Given the description of an element on the screen output the (x, y) to click on. 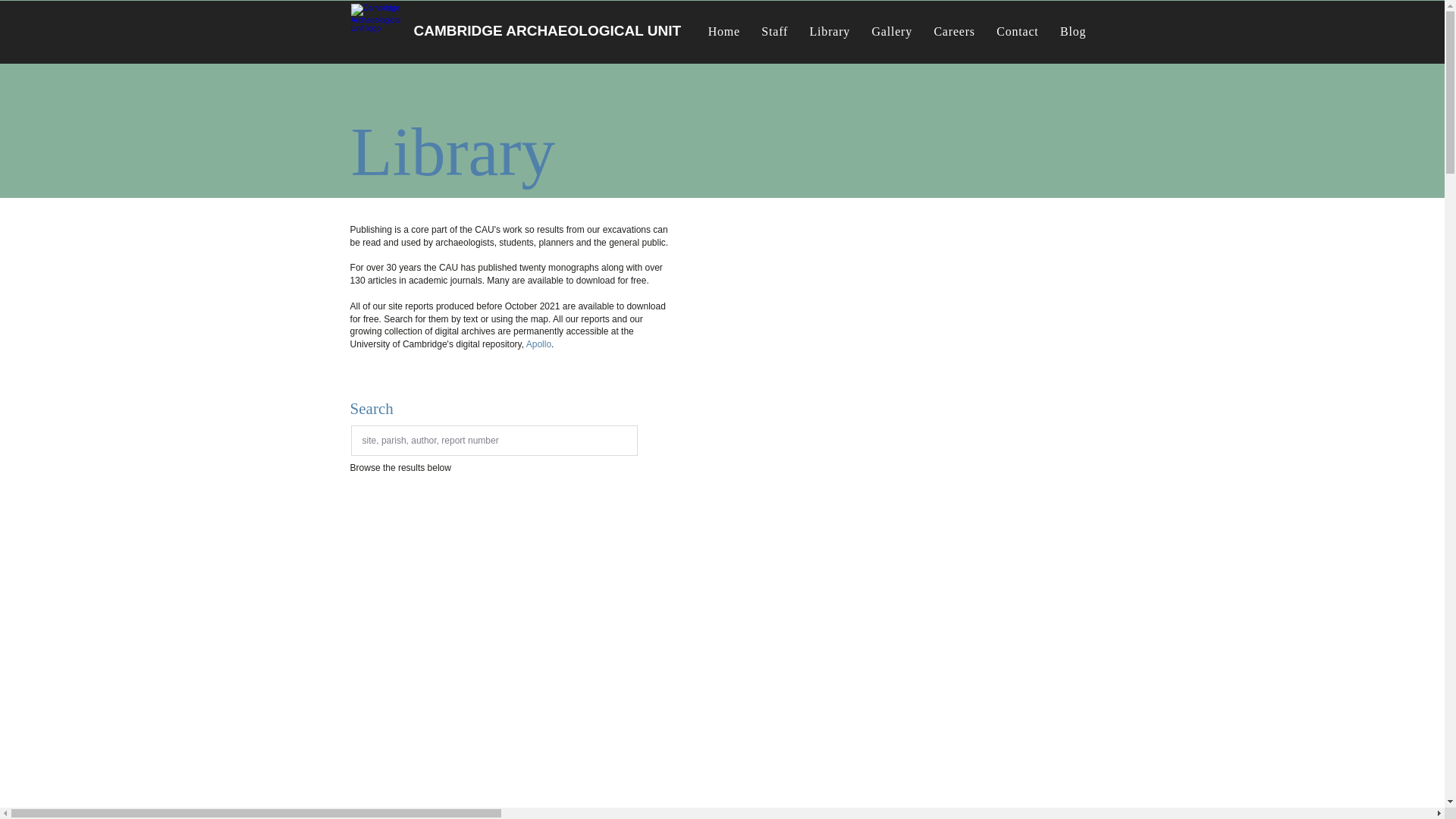
monographs (573, 267)
Gallery (891, 31)
Contact (1017, 31)
articles (383, 280)
Library (829, 31)
Blog (1073, 31)
Staff (774, 31)
Apollo (538, 344)
Careers (954, 31)
